Given the description of an element on the screen output the (x, y) to click on. 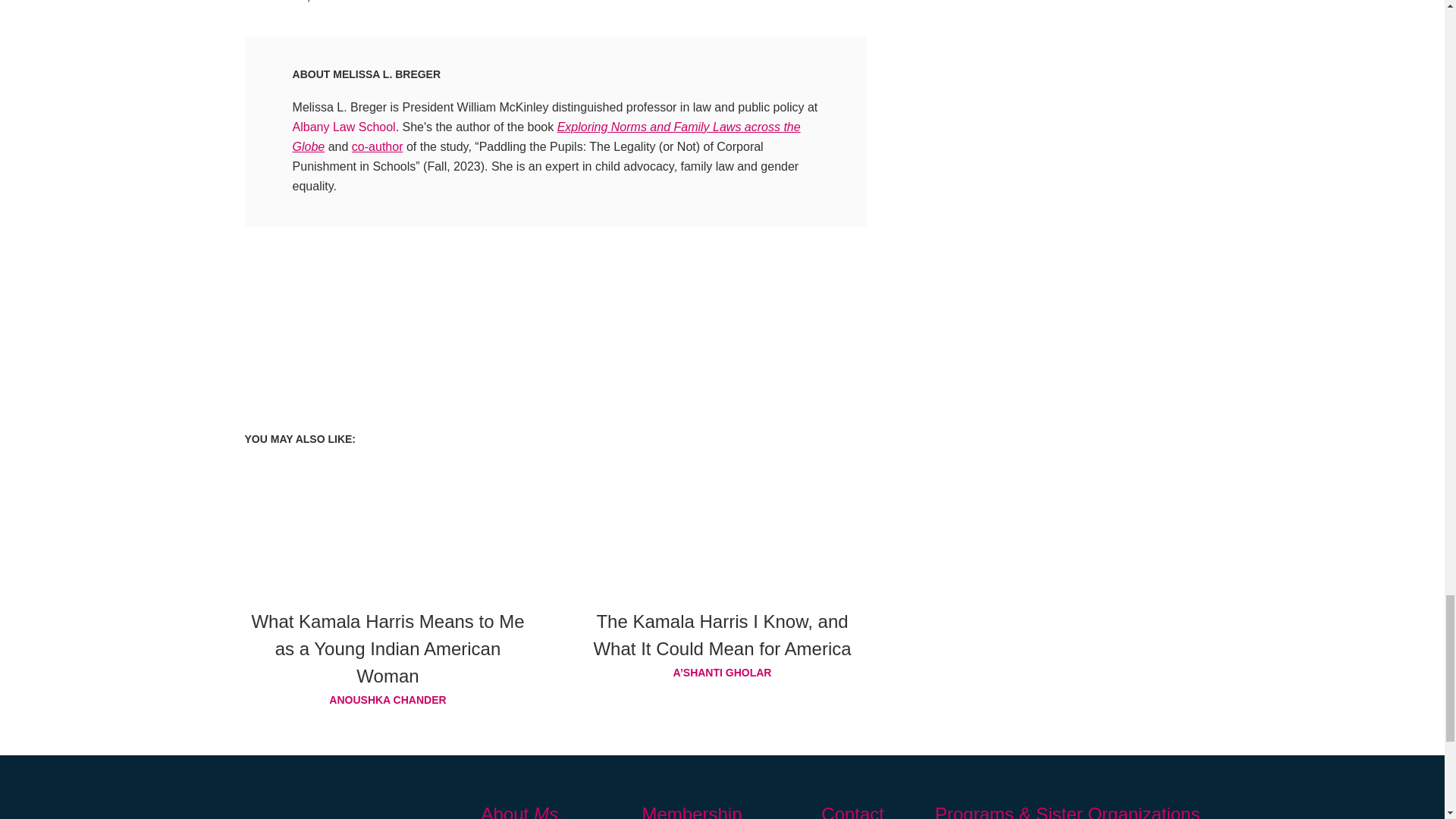
Posts by Melissa L. Breger (387, 73)
Posts by Anoushka Chander (387, 700)
